Given the description of an element on the screen output the (x, y) to click on. 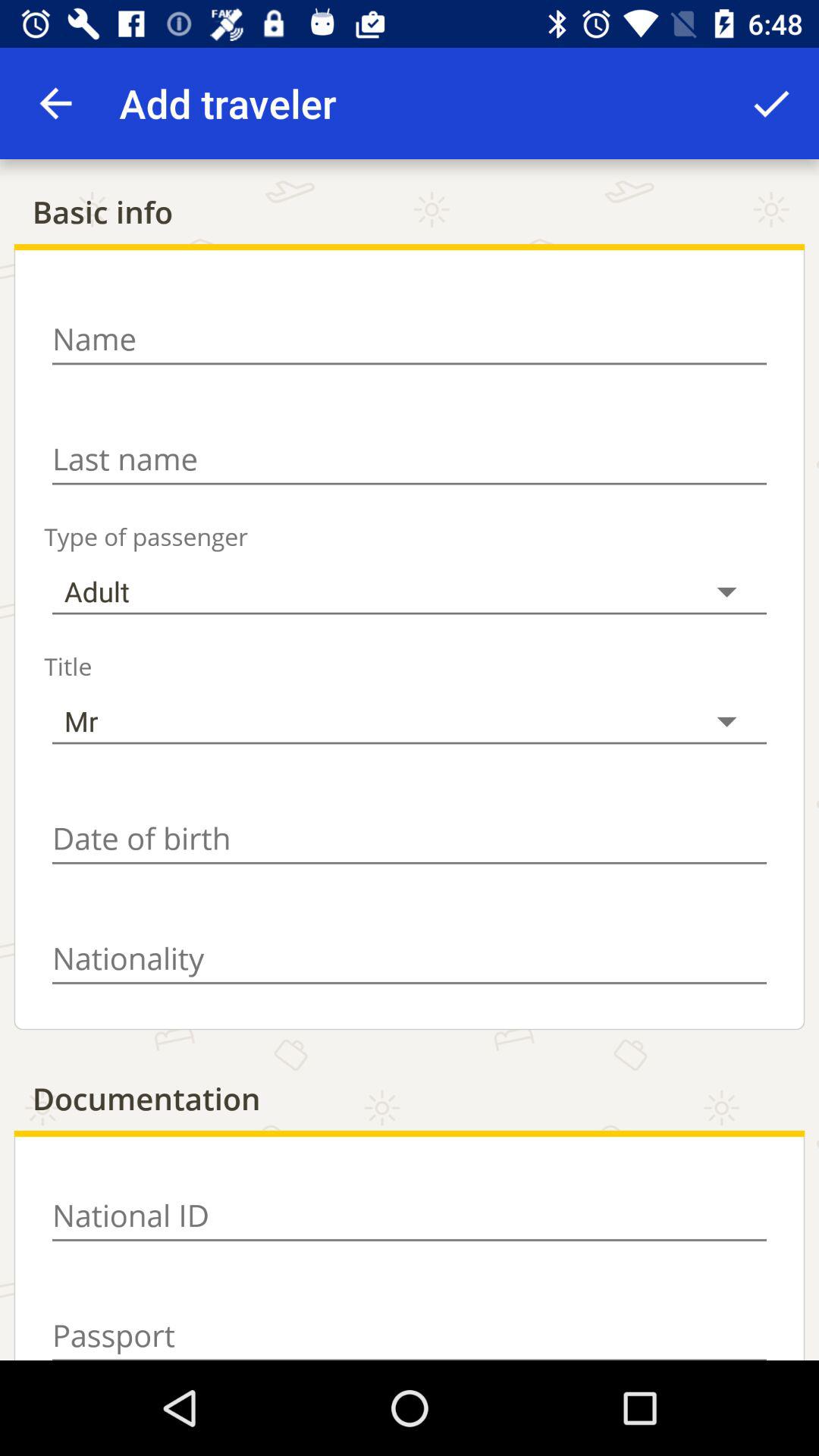
tap item above the basic info item (55, 103)
